Given the description of an element on the screen output the (x, y) to click on. 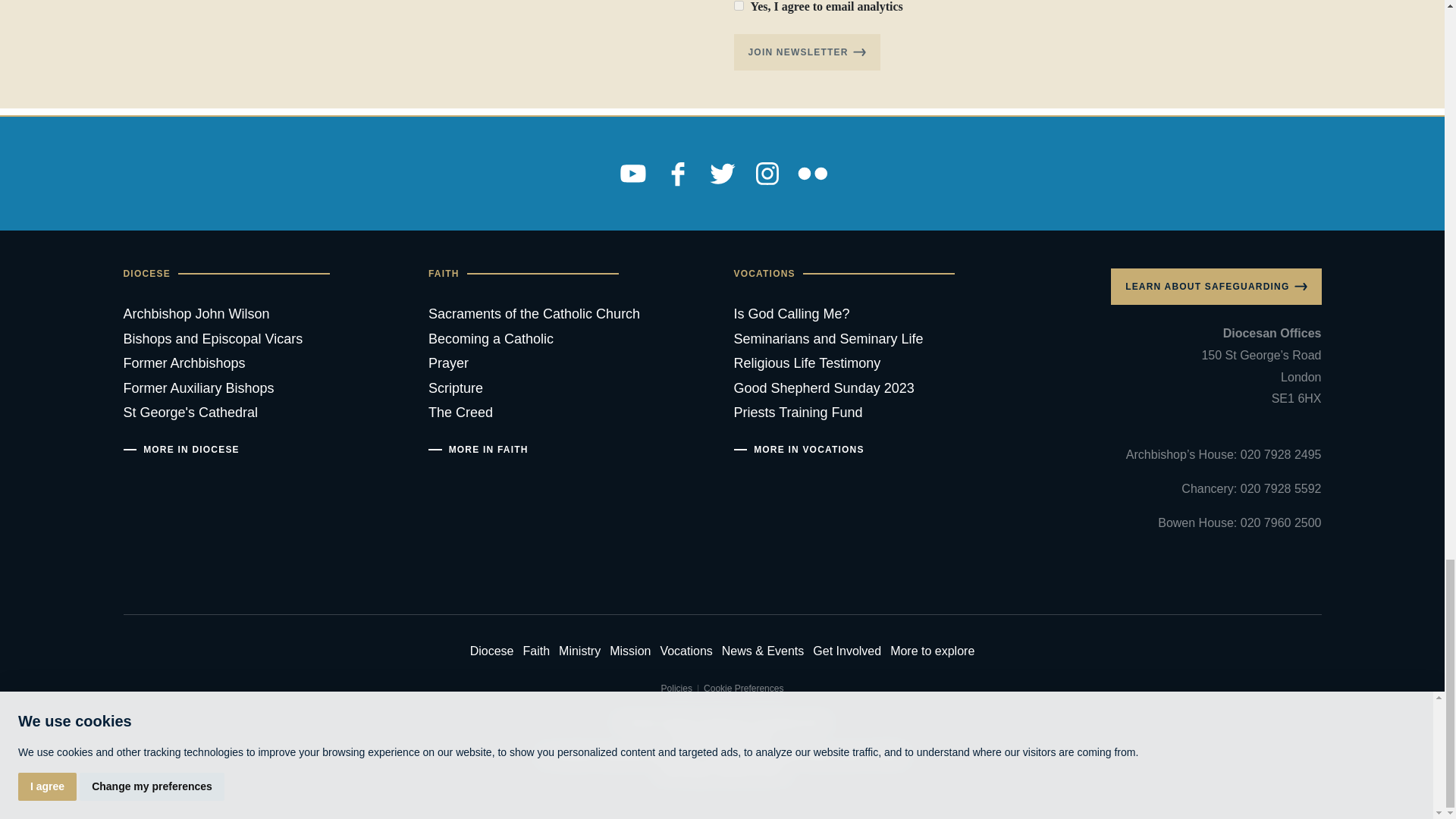
on (738, 5)
